Given the description of an element on the screen output the (x, y) to click on. 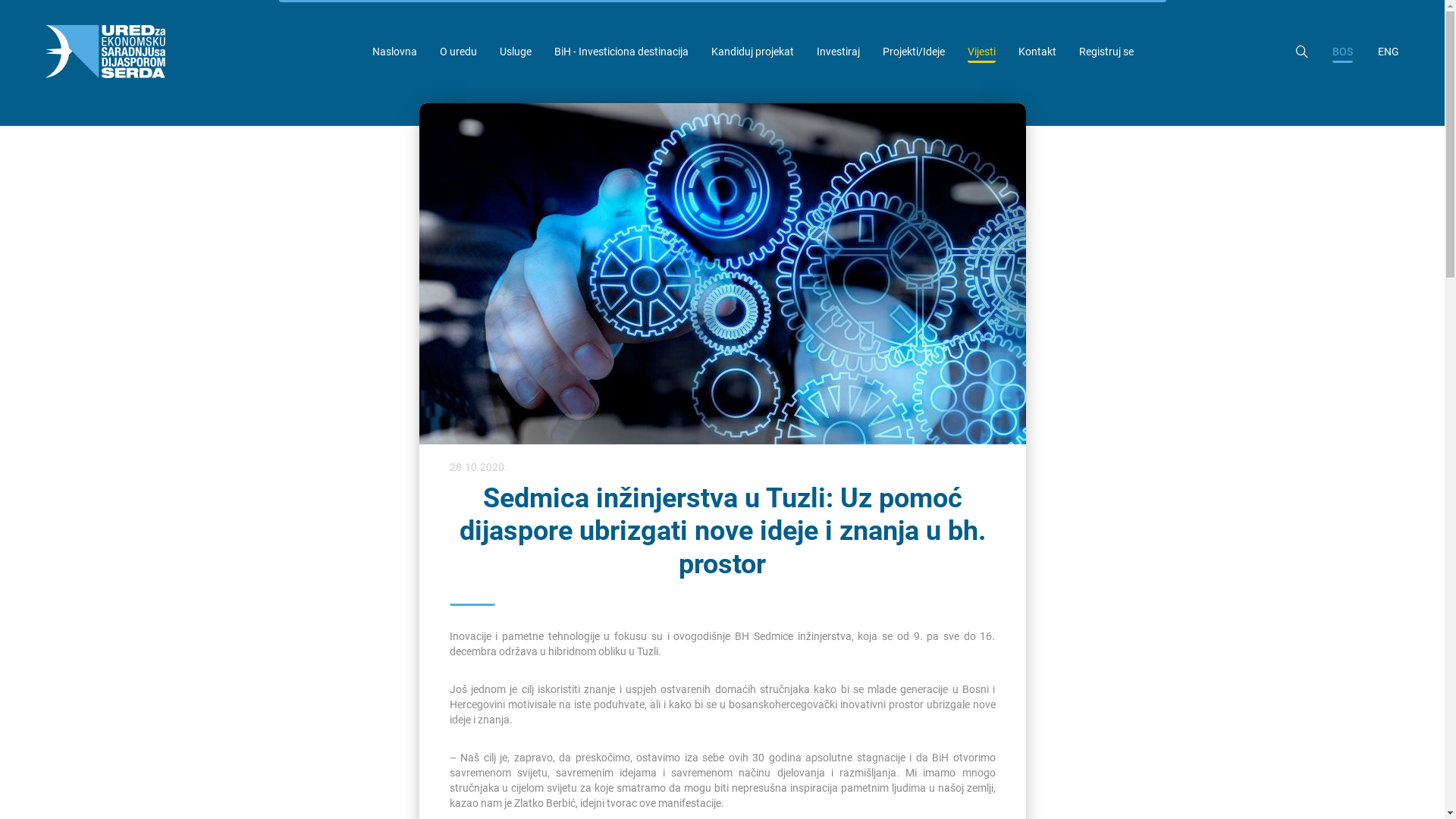
ENG Element type: text (1388, 51)
Registruj se Element type: text (1105, 51)
Vijesti Element type: text (981, 51)
BiH - Investiciona destinacija Element type: text (620, 51)
Projekti/Ideje Element type: text (913, 51)
Investiraj Element type: text (837, 51)
Naslovna Element type: text (393, 51)
Kontakt Element type: text (1036, 51)
BOS Element type: text (1342, 51)
logo-serda Element type: hover (105, 51)
Usluge Element type: text (514, 51)
Kandiduj projekat Element type: text (752, 51)
O uredu Element type: text (457, 51)
